Given the description of an element on the screen output the (x, y) to click on. 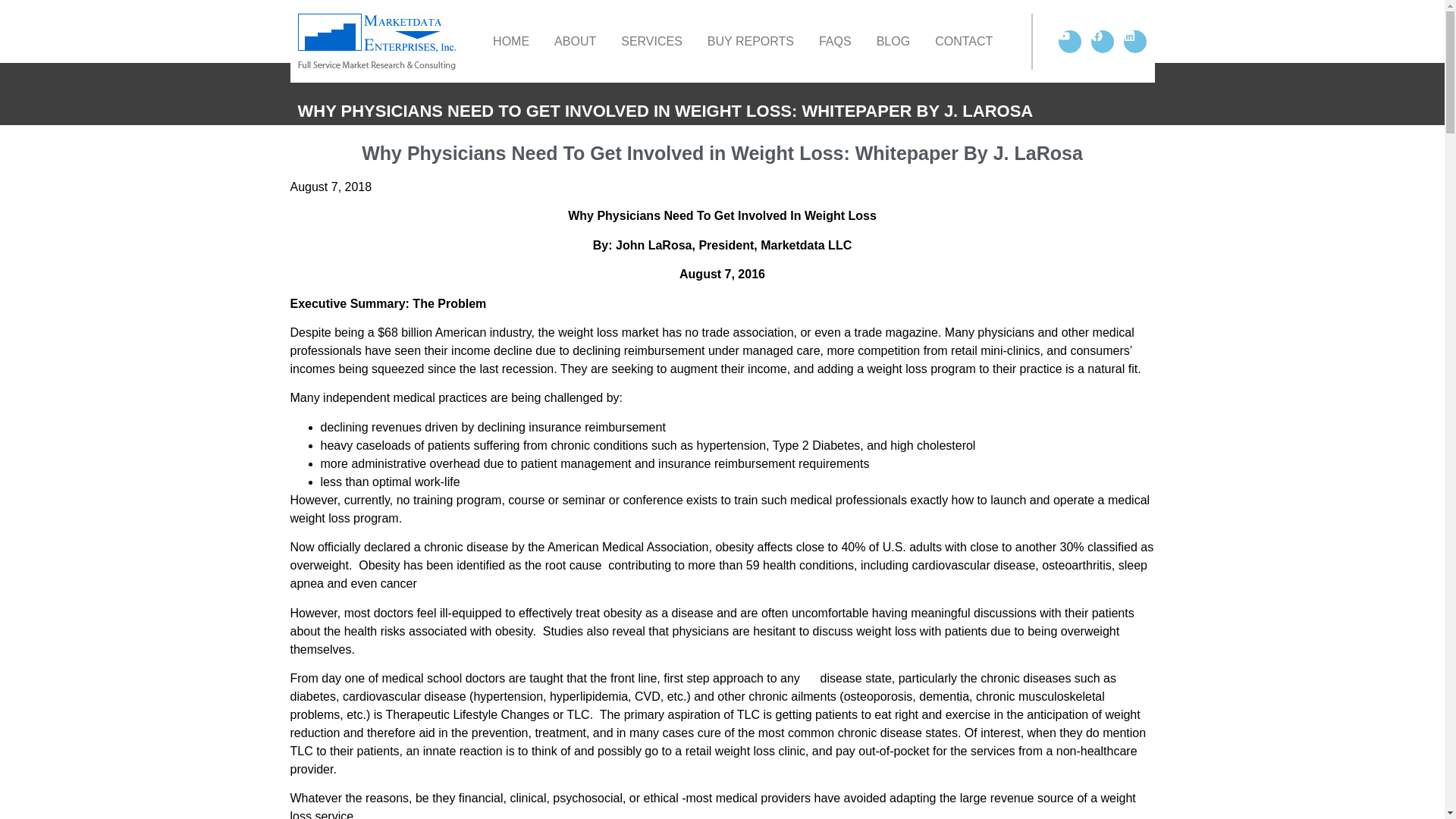
SERVICES (651, 41)
HOME (510, 41)
CONTACT (963, 41)
BLOG (892, 41)
FAQS (834, 41)
BUY REPORTS (750, 41)
ABOUT (574, 41)
